Given the description of an element on the screen output the (x, y) to click on. 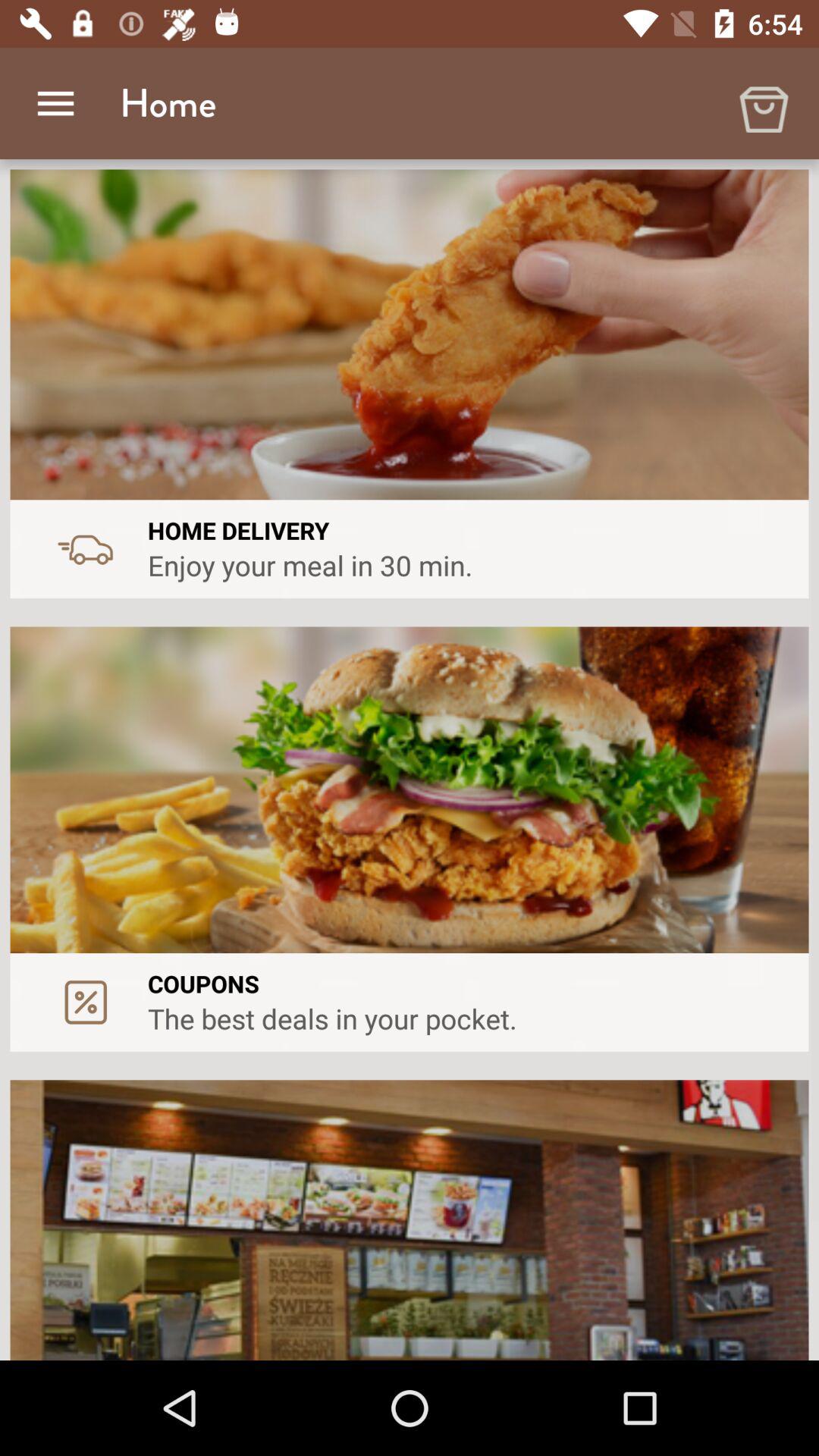
choose the item to the left of the home (55, 103)
